Given the description of an element on the screen output the (x, y) to click on. 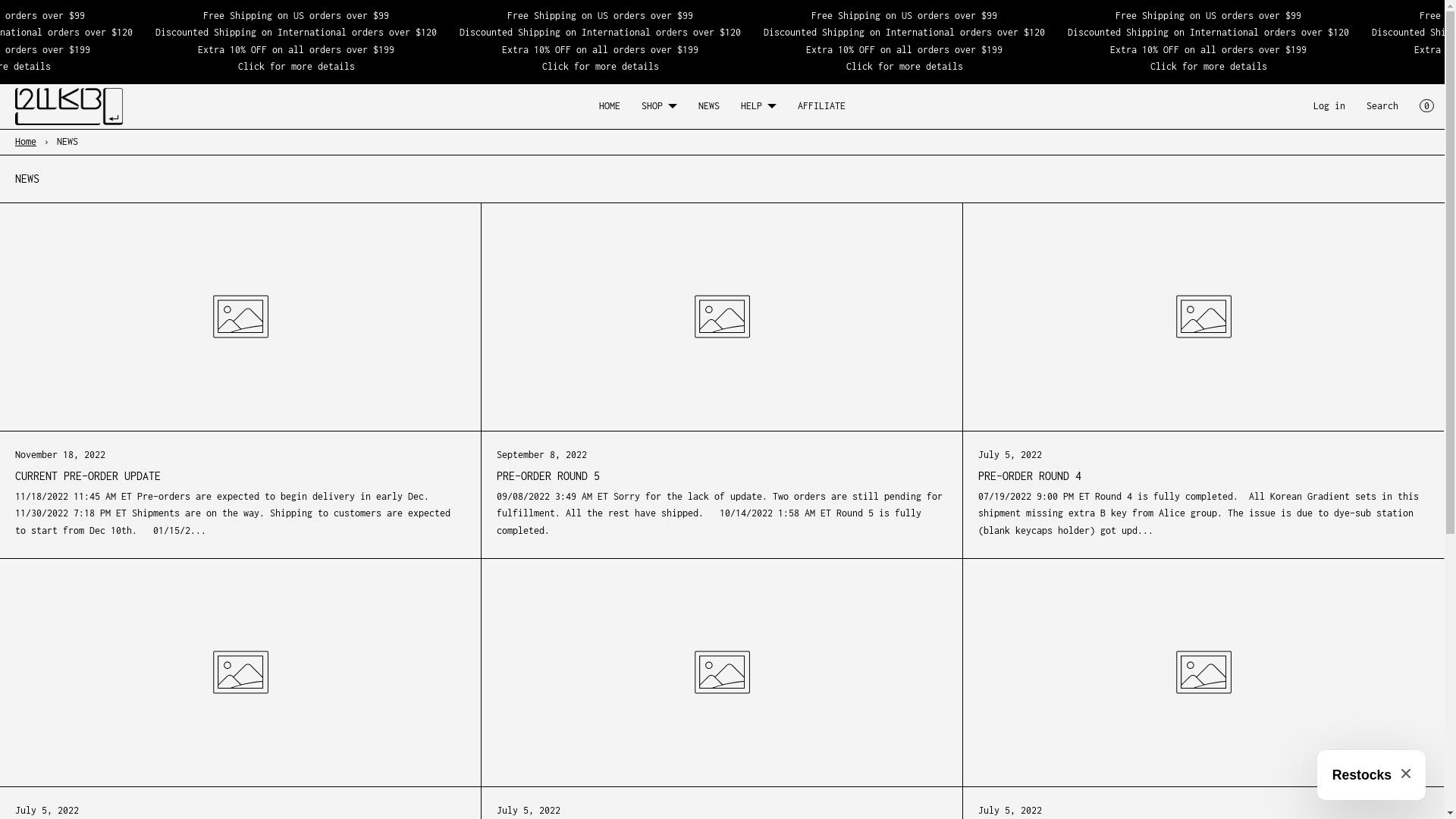
July 5, 2022
PRE-ORDER ROUND 4 Element type: text (1203, 465)
September 8, 2022
PRE-ORDER ROUND 5 Element type: text (721, 465)
NEWS Element type: text (708, 106)
0 Element type: text (1426, 105)
AFFILIATE Element type: text (821, 106)
Search Element type: text (1381, 105)
Home Element type: text (27, 141)
HOME Element type: text (609, 106)
Log in Element type: text (1328, 105)
November 18, 2022
CURRENT PRE-ORDER UPDATE Element type: text (240, 465)
